Given the description of an element on the screen output the (x, y) to click on. 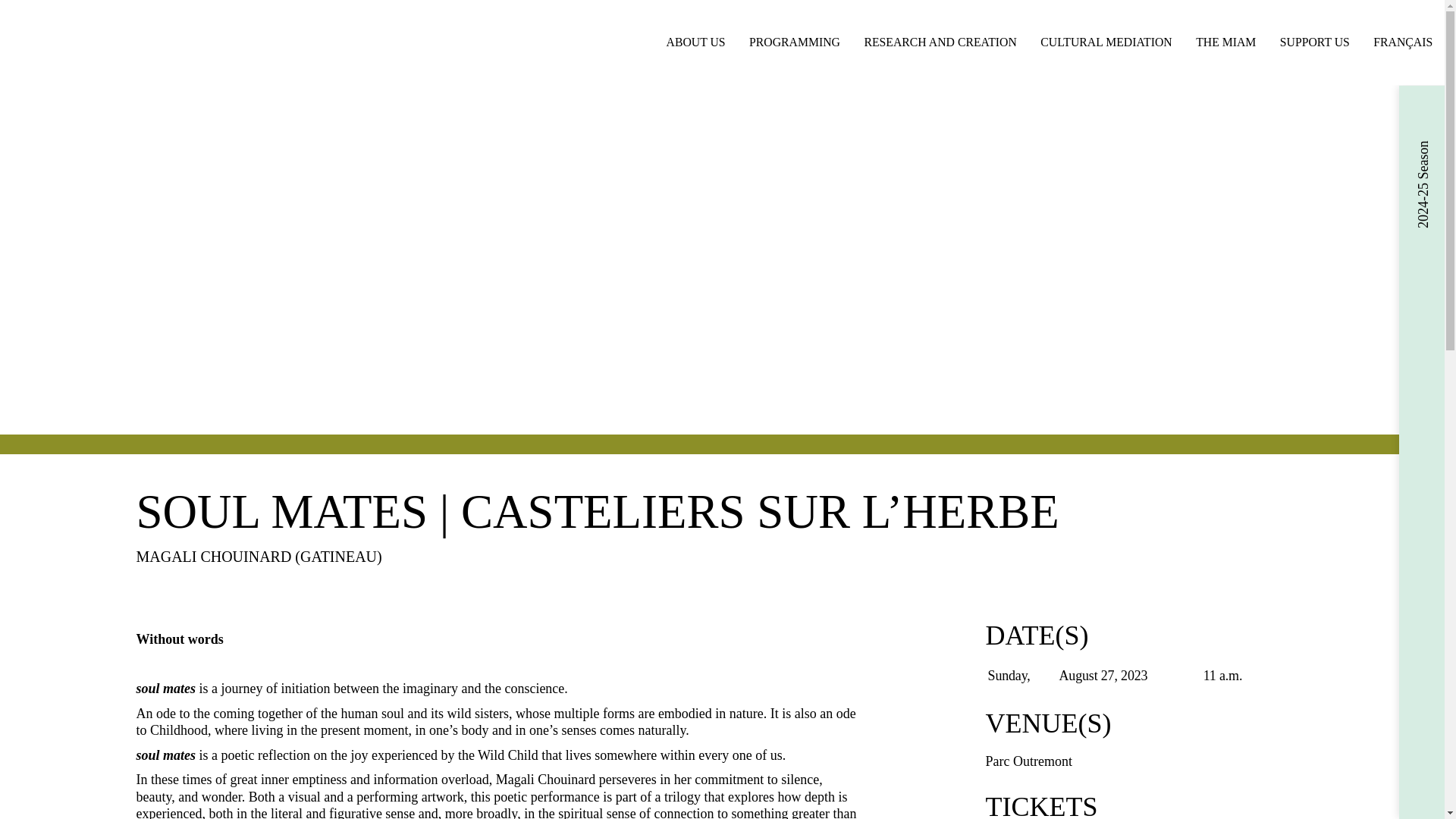
RESEARCH AND CREATION (940, 42)
THE MIAM (1225, 42)
ABOUT US (695, 42)
SUPPORT US (1314, 42)
CULTURAL MEDIATION (1107, 42)
PROGRAMMING (793, 42)
